Given the description of an element on the screen output the (x, y) to click on. 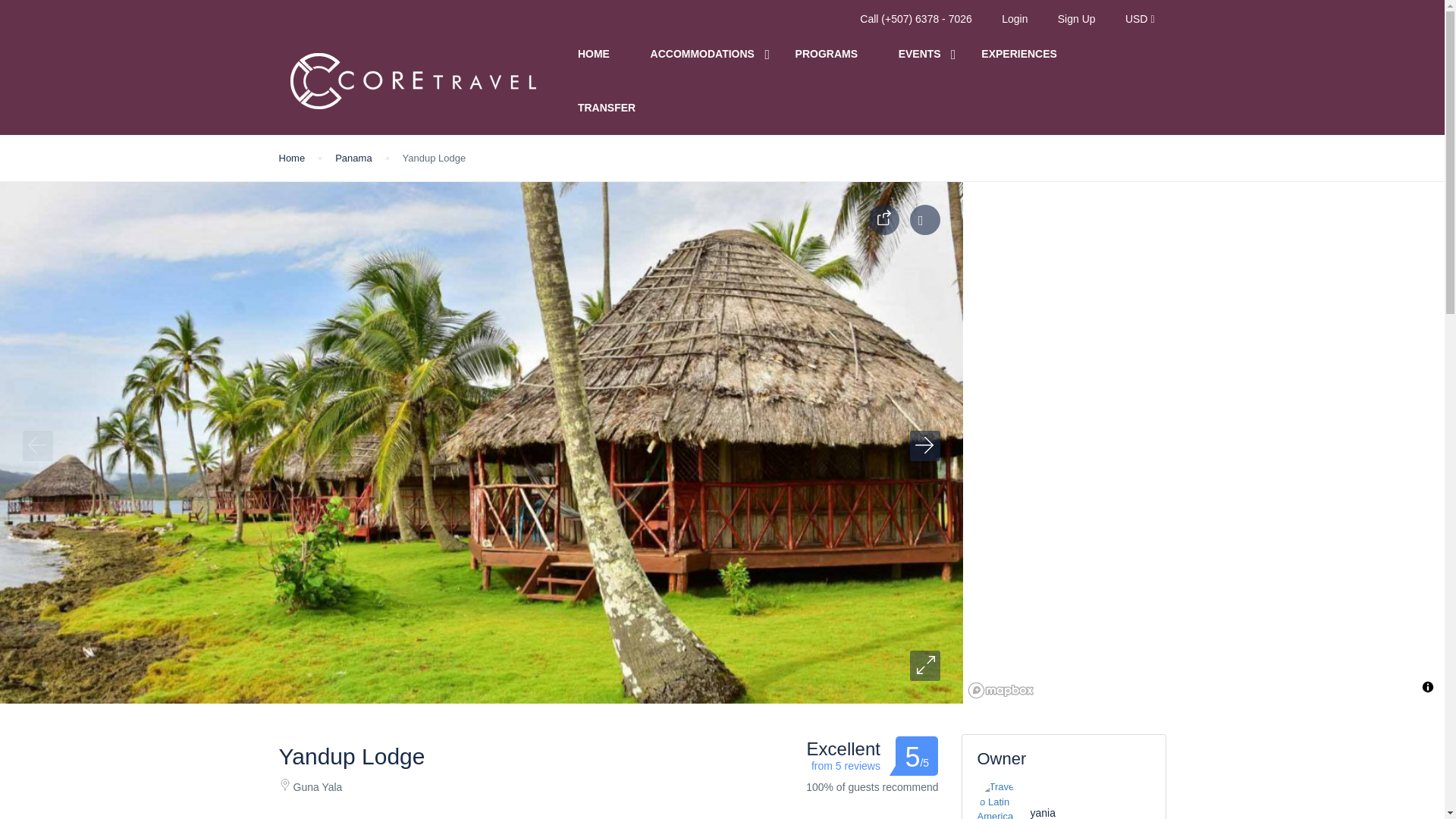
EVENTS (919, 53)
FACILITIES (425, 814)
Created with Sketch. (884, 219)
HOME (594, 53)
Created with Sketch. (883, 217)
Panama (352, 157)
RULES (518, 814)
Login (1014, 19)
ACCOMMODATIONS (702, 53)
Created with Sketch. (285, 784)
TRANSFER (606, 107)
PROGRAMS (825, 53)
Home (292, 157)
Sign Up (1077, 19)
USD (1139, 19)
